Given the description of an element on the screen output the (x, y) to click on. 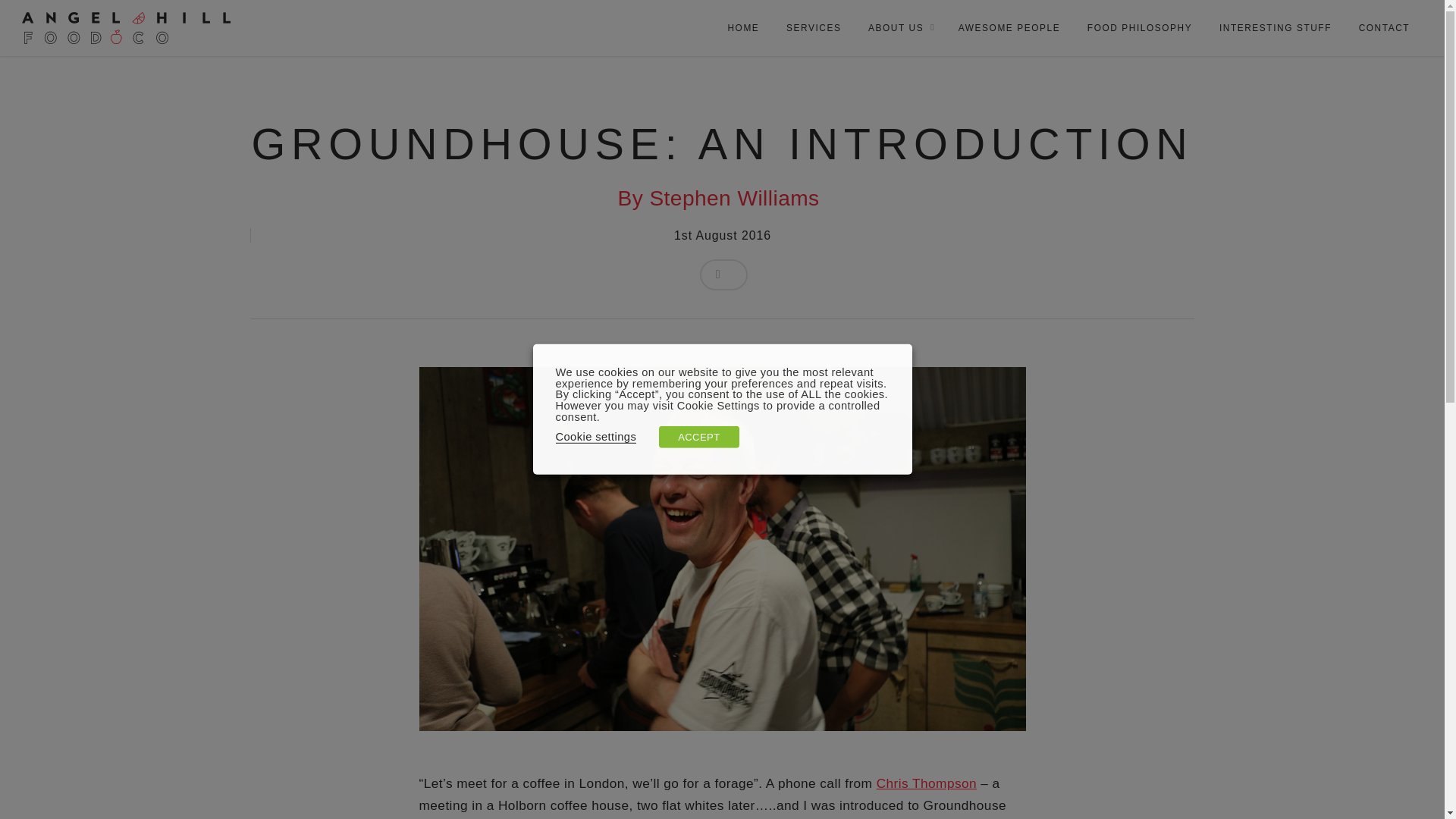
FOOD PHILOSOPHY (1139, 28)
Posts by Stephen Williams (733, 197)
AWESOME PEOPLE (1008, 28)
INTERESTING STUFF (1276, 28)
CONTACT (1384, 28)
Stephen Williams (733, 197)
SERVICES (813, 28)
Chris Thompson (926, 783)
ABOUT US (899, 28)
